Given the description of an element on the screen output the (x, y) to click on. 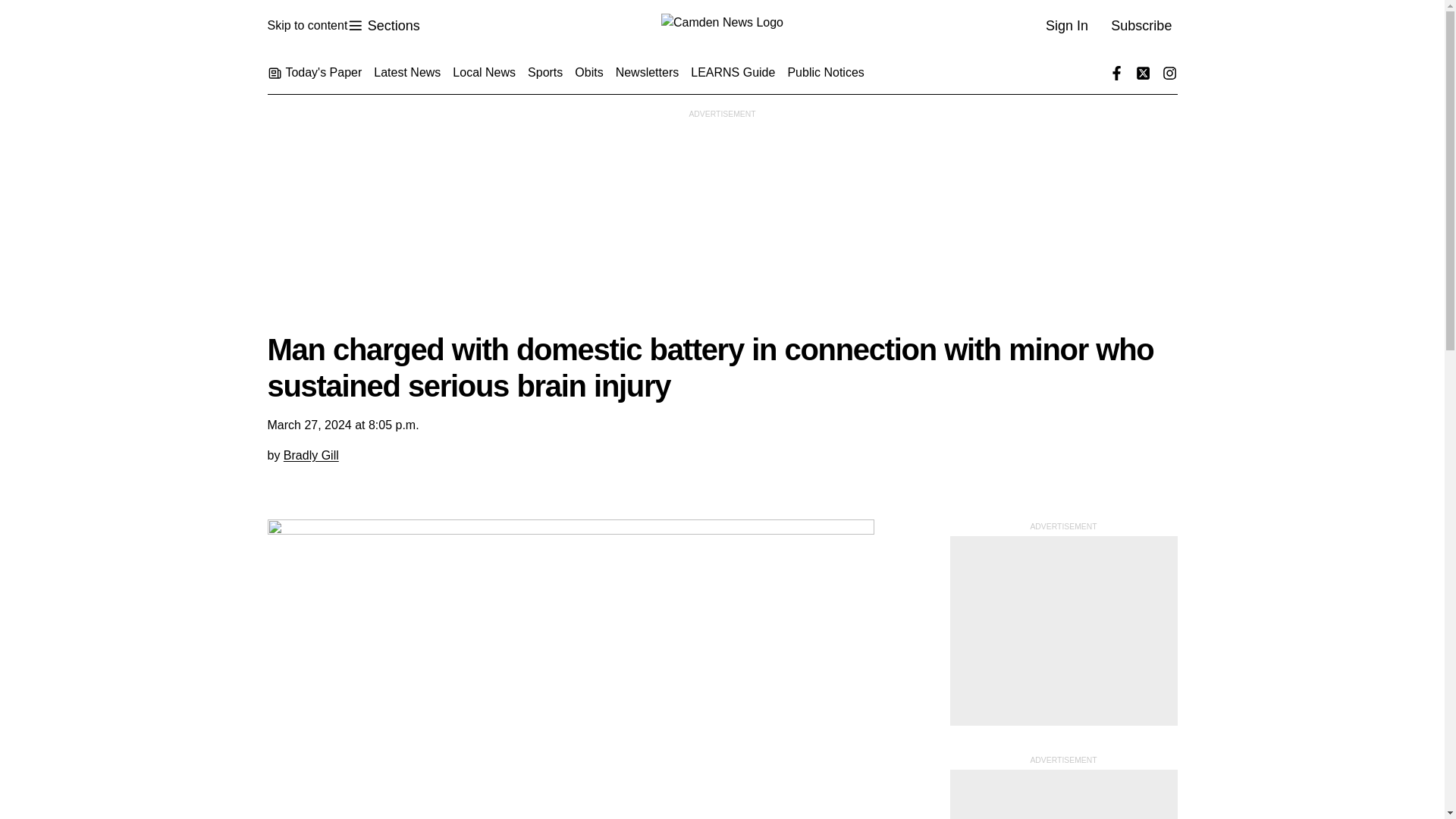
Sign In (1067, 25)
LEARNS Guide (732, 72)
Newsletters (647, 72)
Local News (483, 72)
Sports (383, 25)
Camden News (544, 72)
Today's Paper (722, 25)
Obits (313, 72)
Skip to content (588, 72)
Bradly Gill (306, 25)
Public Notices (311, 454)
Latest News (825, 72)
Subscribe (407, 72)
